Given the description of an element on the screen output the (x, y) to click on. 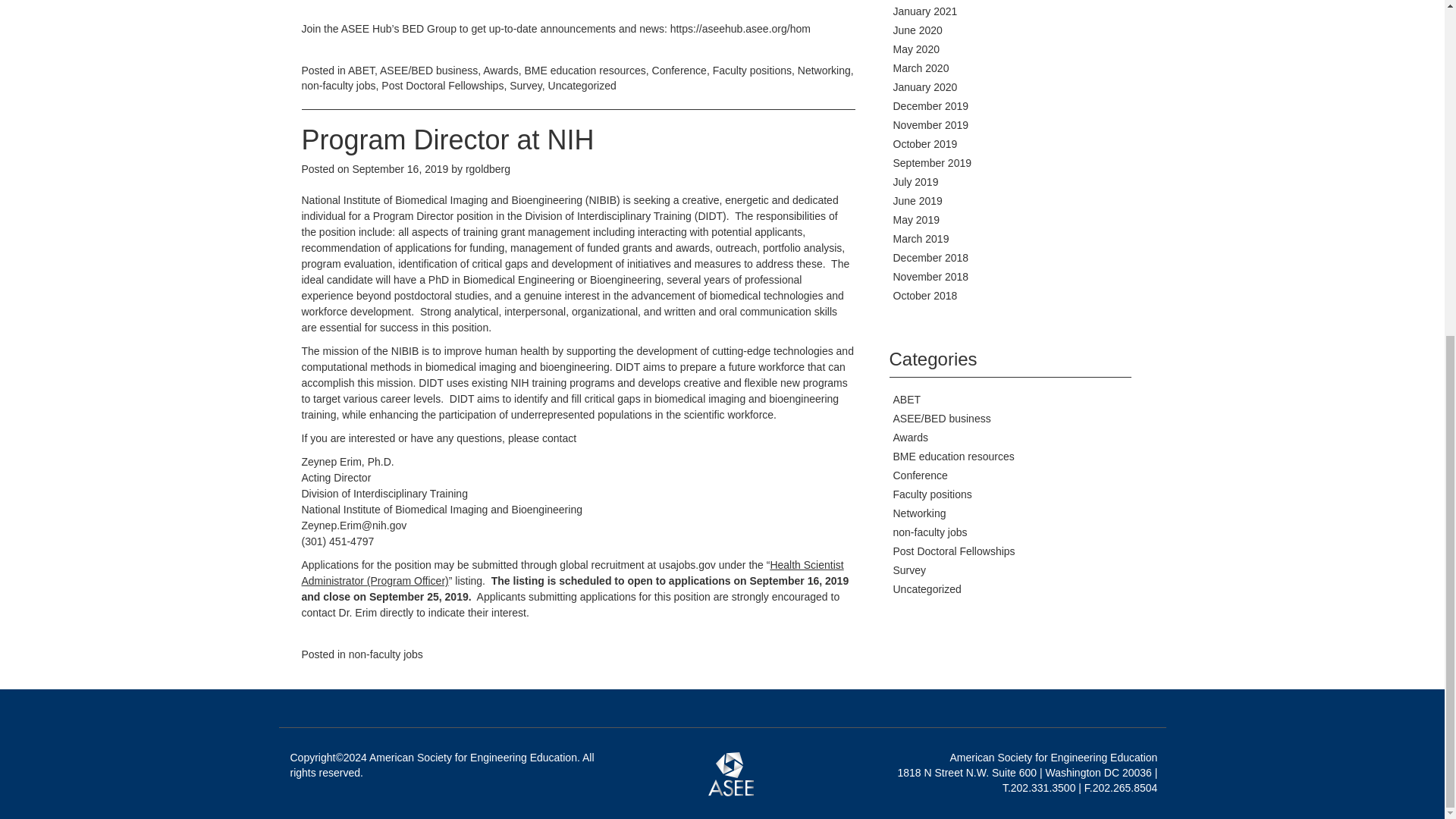
Awards (500, 70)
non-faculty jobs (338, 85)
7:50 pm (400, 168)
ABET (360, 70)
Conference (679, 70)
Networking (823, 70)
Faculty positions (752, 70)
BME education resources (584, 70)
View all posts by rgoldberg (488, 168)
